Given the description of an element on the screen output the (x, y) to click on. 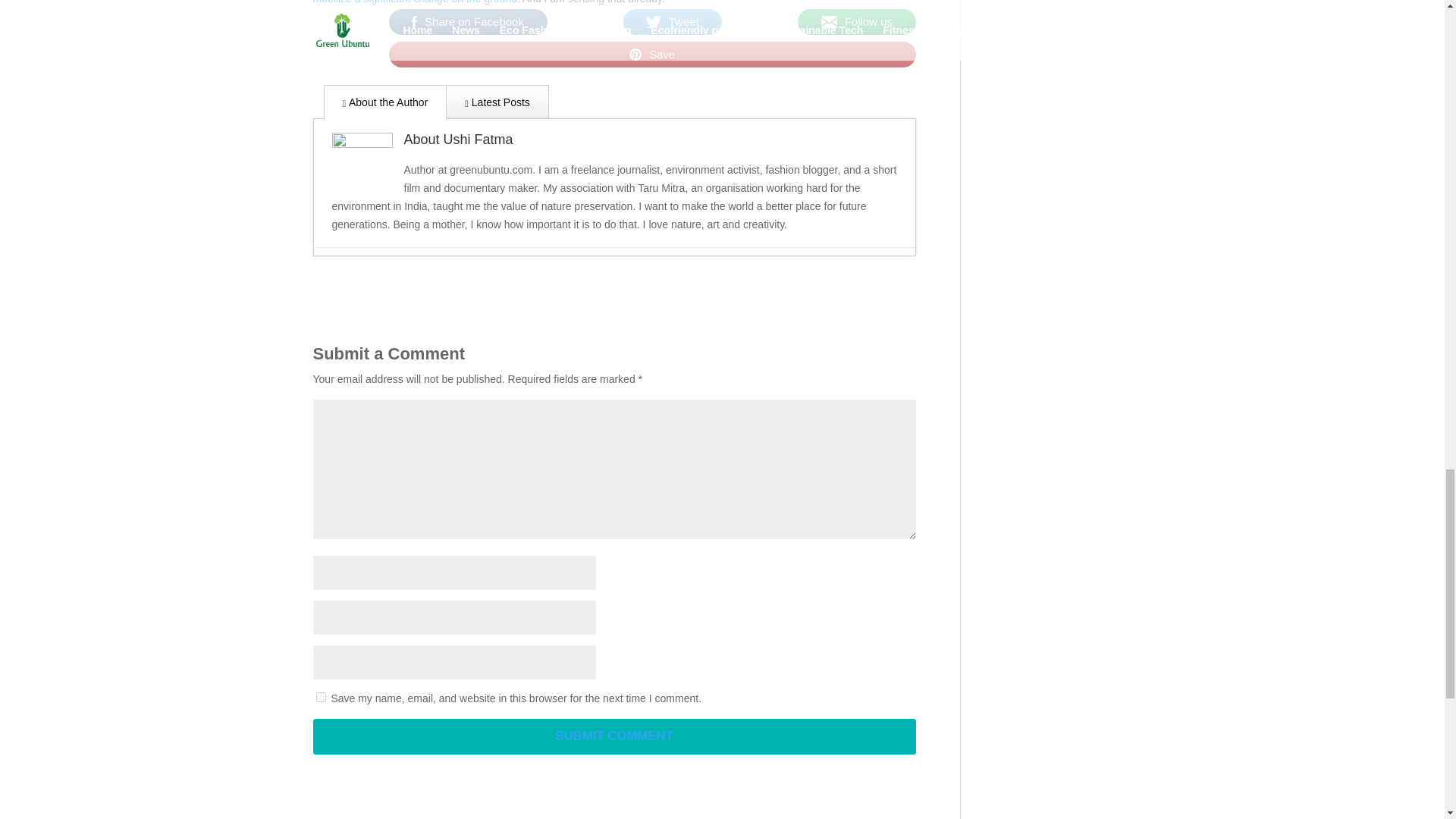
Follow us (856, 21)
Latest Posts (496, 101)
Save (651, 54)
Tweet (672, 21)
Submit Comment (614, 736)
Share on Facebook (467, 21)
yes (319, 696)
About the Author (384, 101)
